Given the description of an element on the screen output the (x, y) to click on. 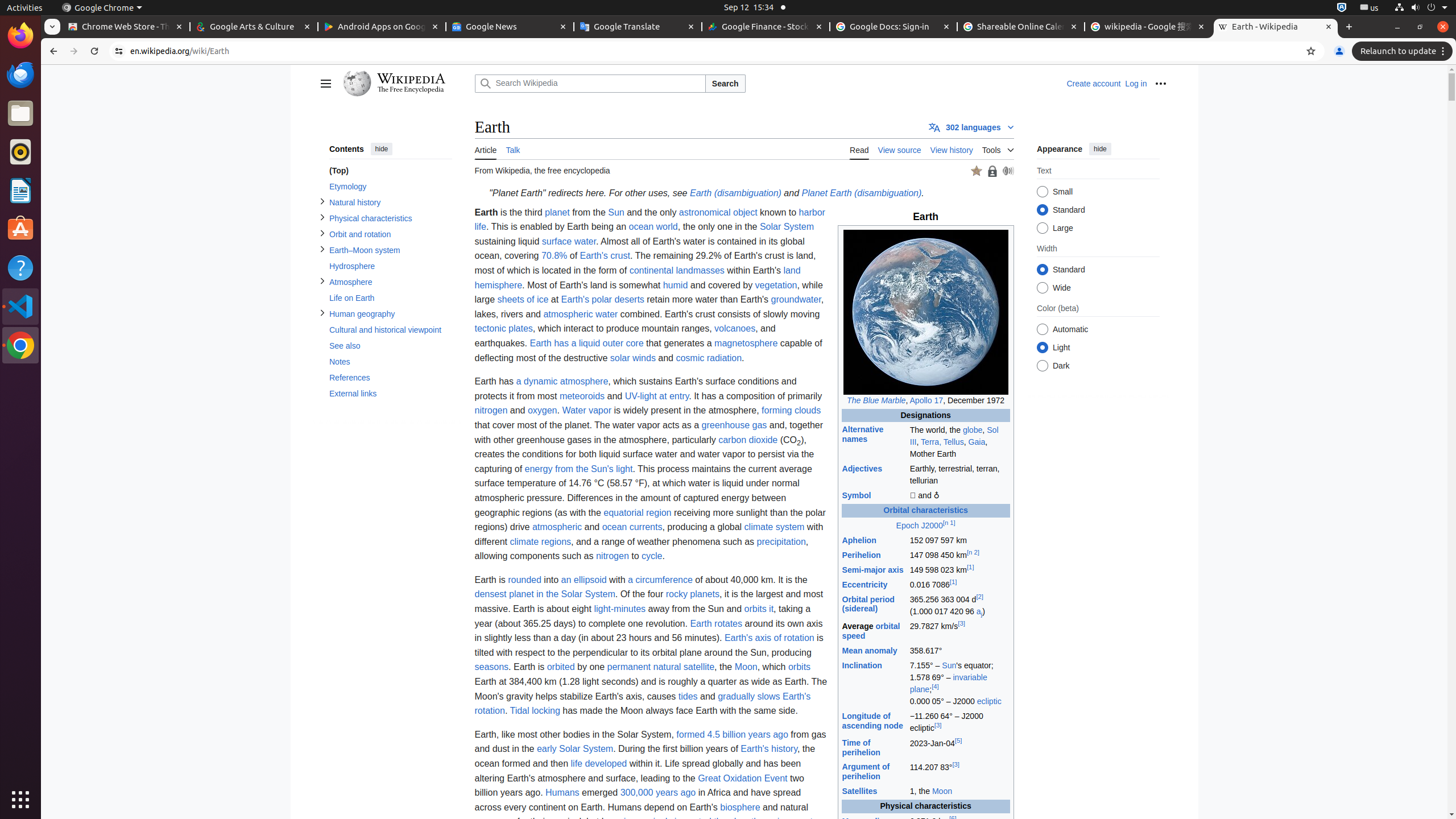
Earth's history Element type: link (768, 748)
Eccentricity Element type: link (864, 584)
Google News - Memory usage - 55.3 MB Element type: page-tab (509, 26)
continental Element type: link (651, 270)
a circumference Element type: link (659, 579)
